Given the description of an element on the screen output the (x, y) to click on. 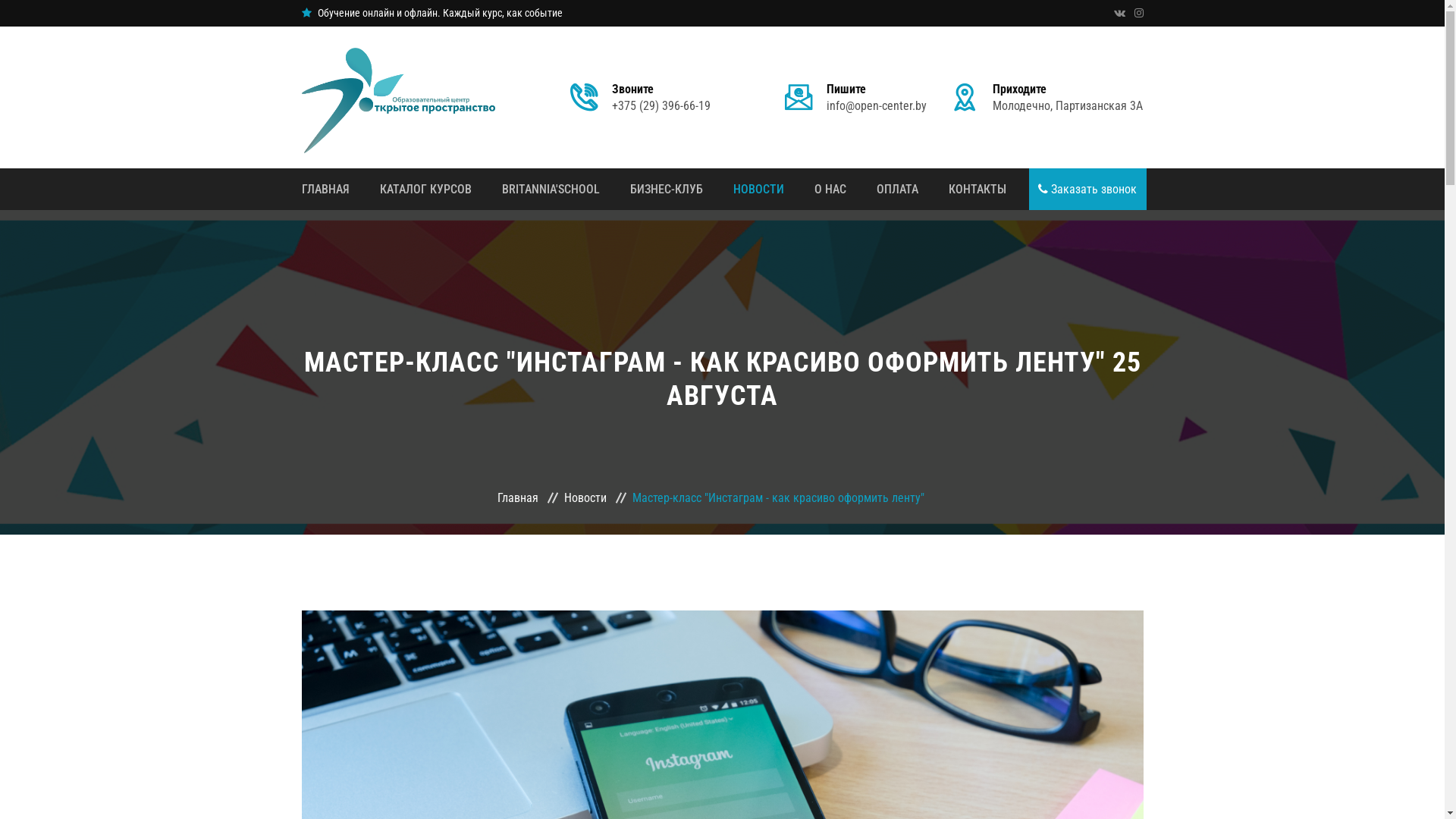
BRITANNIA'SCHOOL Element type: text (550, 189)
